Given the description of an element on the screen output the (x, y) to click on. 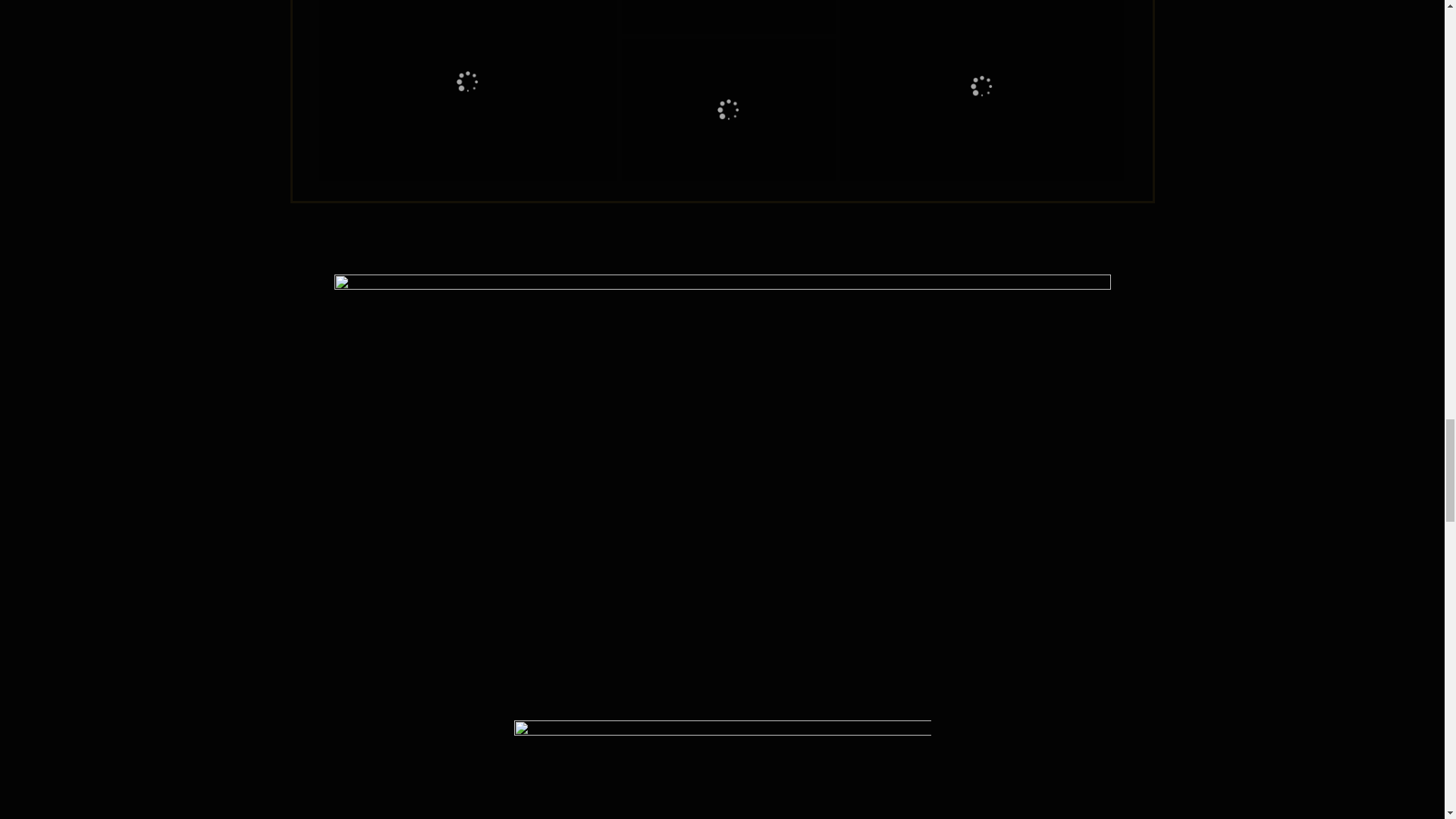
Wiggzaro bigbang -topaz-denoise-sharpen sml tiny (728, 17)
www.wiggzaro.com - Live at the Roadhouse, London, UK (728, 109)
